Given the description of an element on the screen output the (x, y) to click on. 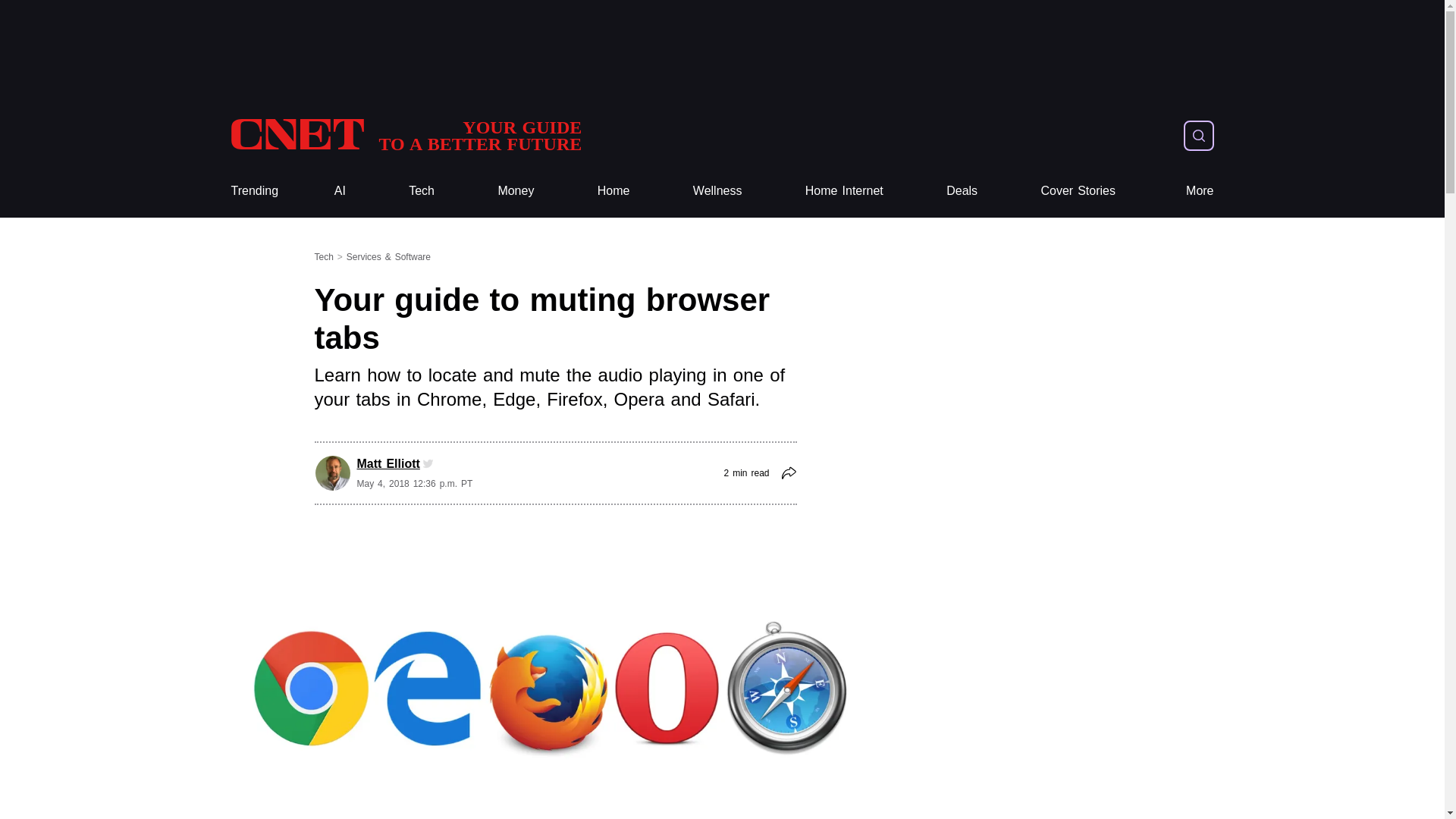
Home (613, 190)
Home Internet (844, 190)
Wellness (717, 190)
Cover Stories (1078, 190)
Wellness (717, 190)
Home Internet (844, 190)
Trending (405, 135)
Home (254, 190)
Tech (613, 190)
